Given the description of an element on the screen output the (x, y) to click on. 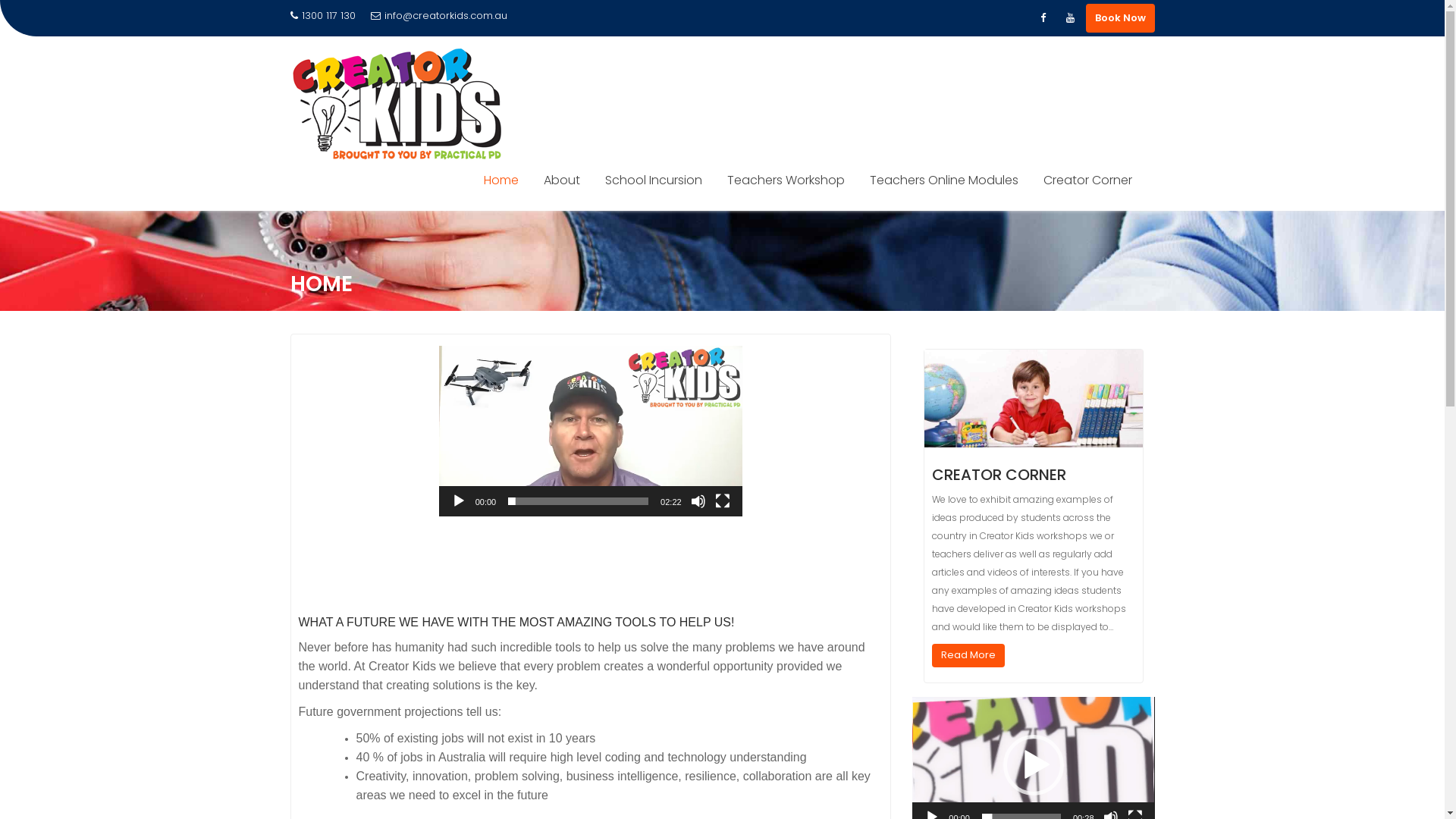
About Element type: text (561, 180)
Play Element type: hover (458, 500)
CREATOR CORNER Element type: text (998, 474)
Home Element type: text (500, 180)
Facebook Element type: hover (1043, 18)
Read More Element type: text (967, 655)
Youtube Element type: hover (1070, 18)
Creator Corner Element type: text (1086, 180)
Fullscreen Element type: hover (722, 500)
Book Now Element type: text (1119, 17)
Teachers Workshop Element type: text (785, 180)
Skip to content Element type: text (0, 210)
School Incursion Element type: text (652, 180)
info@creatorkids.com.au Element type: text (438, 15)
Teachers Online Modules Element type: text (943, 180)
Mute Element type: hover (698, 500)
